Given the description of an element on the screen output the (x, y) to click on. 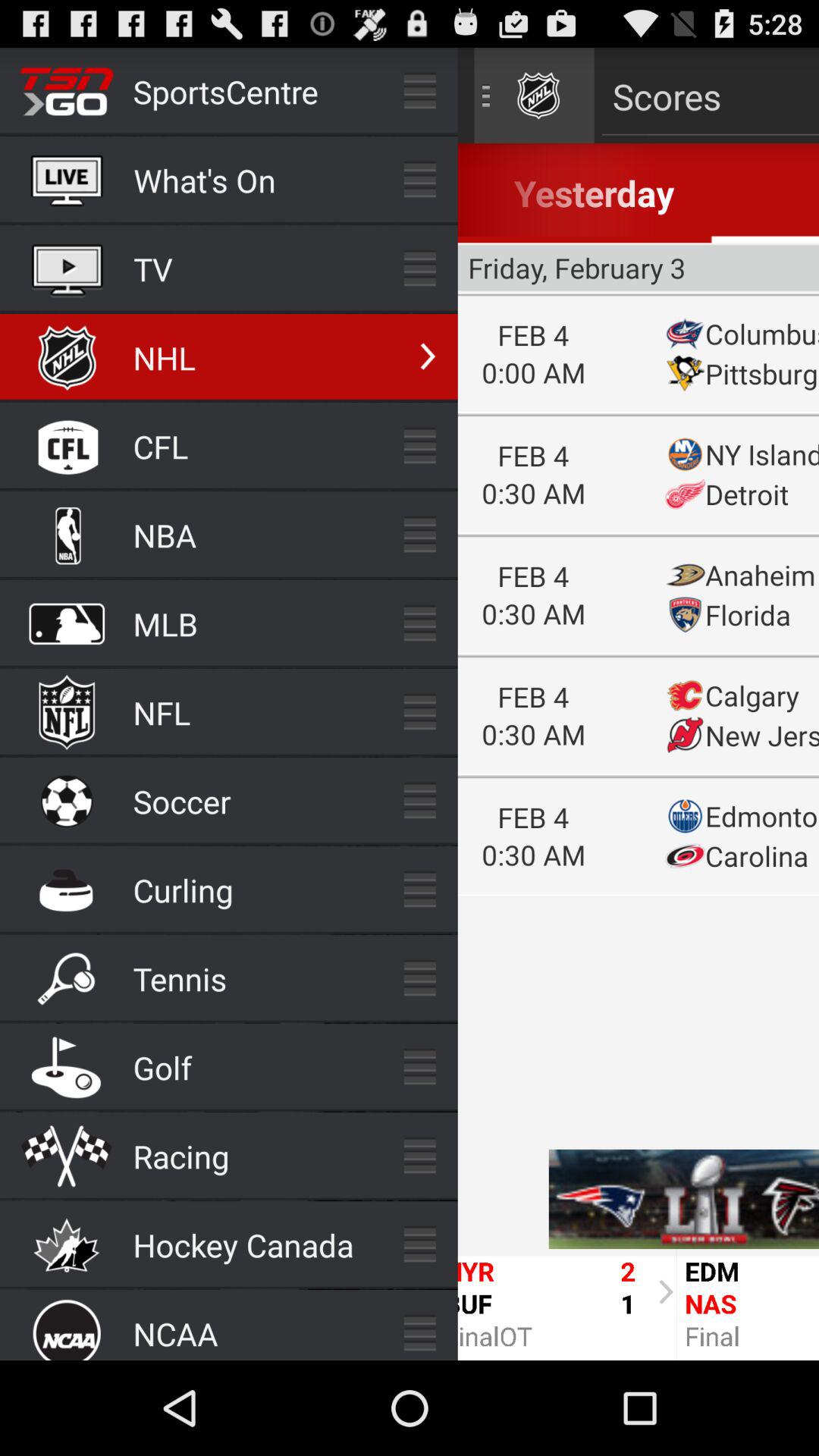
display nhl games scores (638, 703)
